Given the description of an element on the screen output the (x, y) to click on. 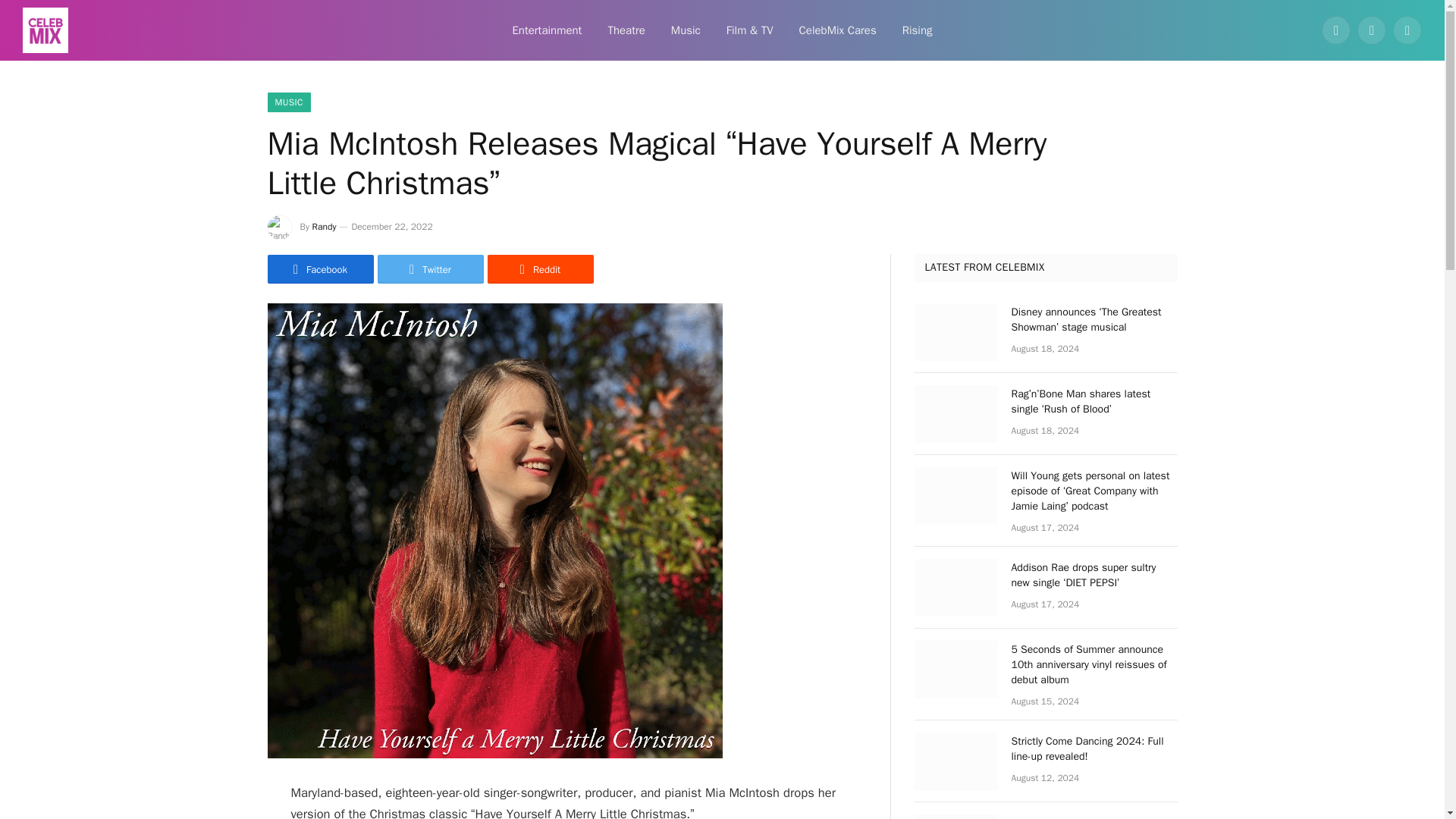
Facebook (1336, 30)
Rising (916, 30)
Reddit (539, 268)
Instagram (1407, 30)
Posts by Randy (324, 226)
Music (685, 30)
Randy (324, 226)
Share on Facebook (319, 268)
Twitter (430, 268)
MUSIC (288, 102)
